Given the description of an element on the screen output the (x, y) to click on. 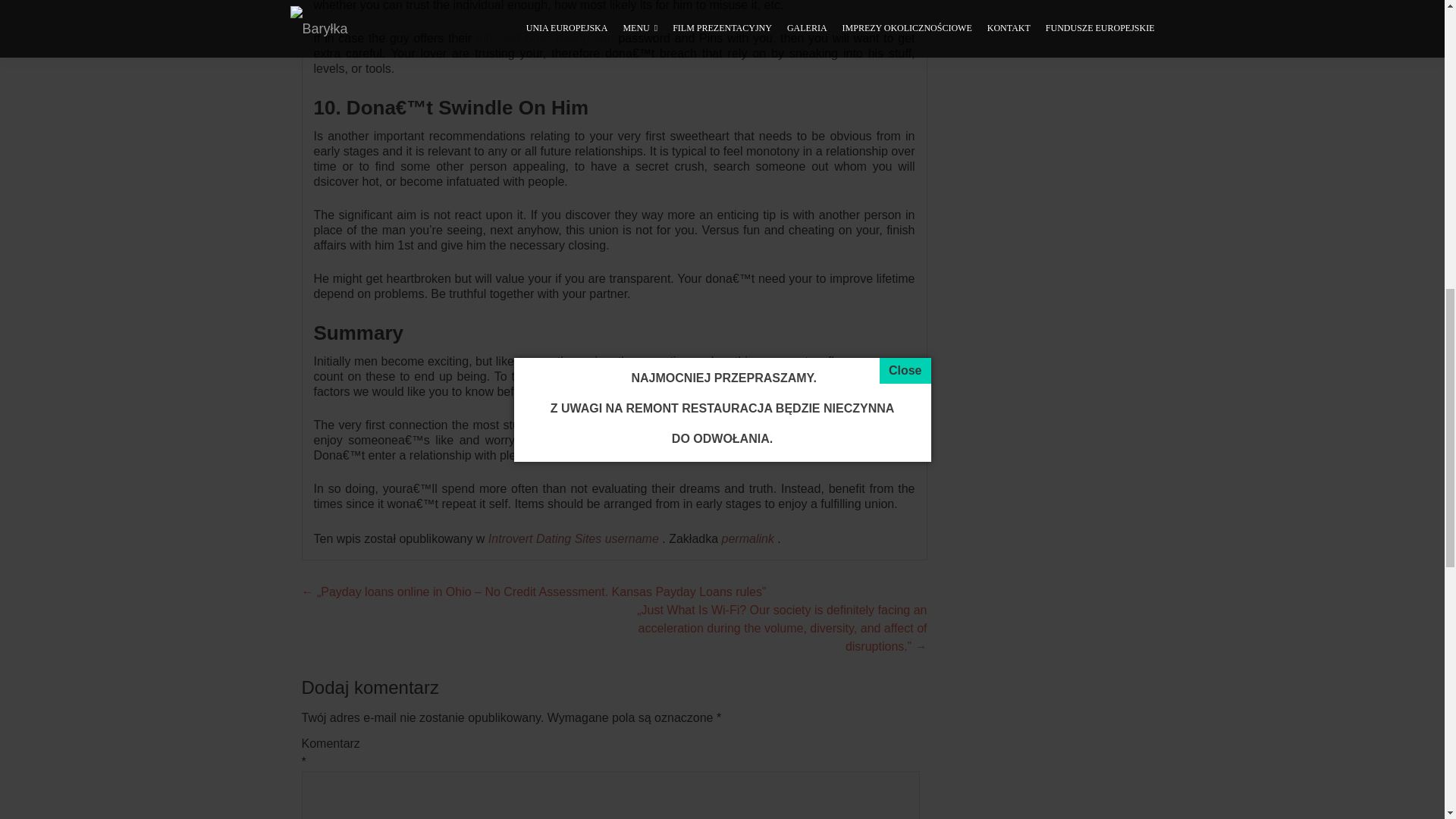
Introvert Dating Sites username (573, 538)
permalink (749, 538)
Introvert Sites dating app (545, 38)
